Given the description of an element on the screen output the (x, y) to click on. 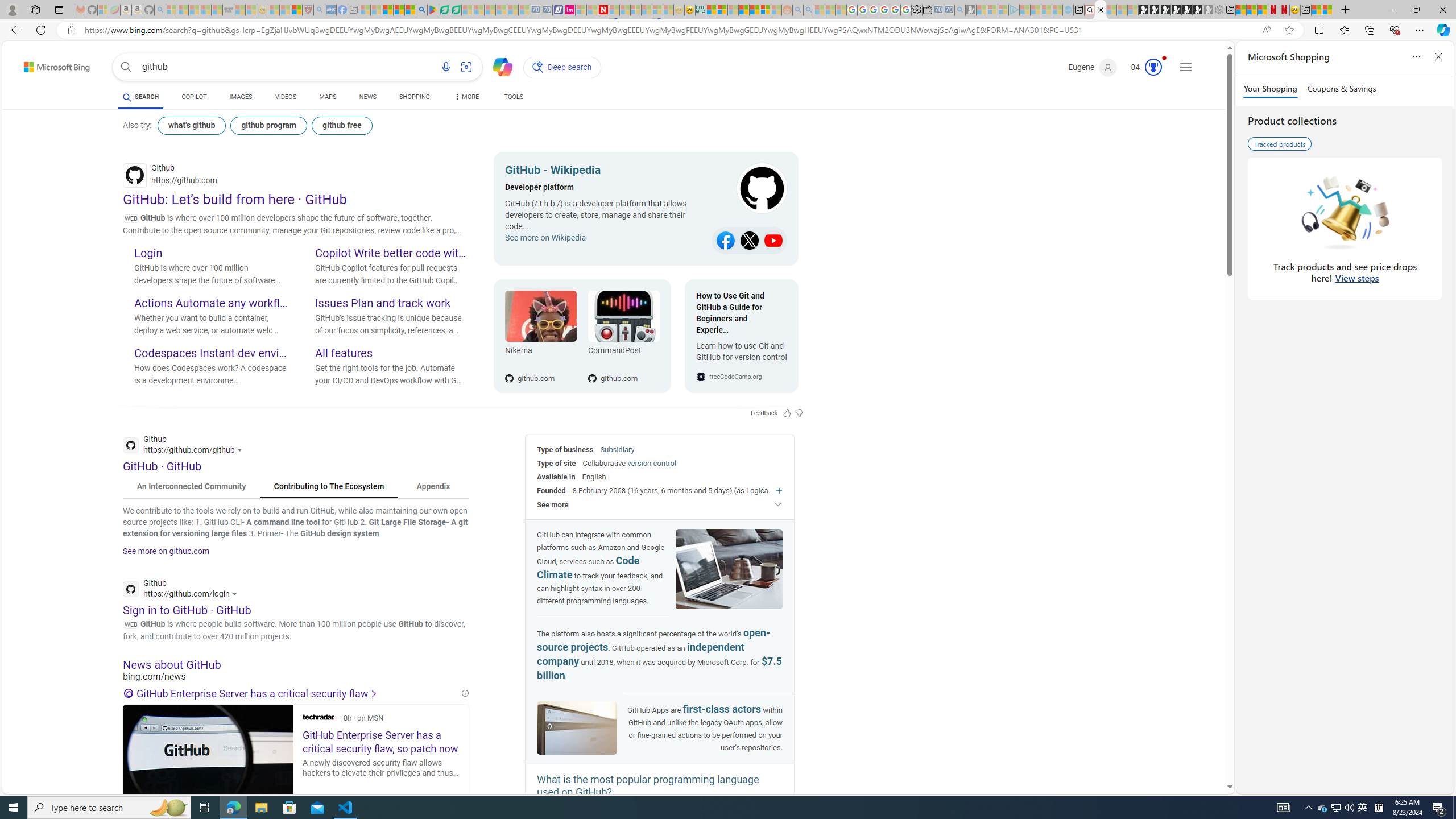
Type of site (556, 462)
Back to Bing search (50, 64)
github program (268, 125)
Search more (1204, 753)
Class: b_sitlk (773, 240)
version control (651, 462)
Type of business (565, 449)
